Given the description of an element on the screen output the (x, y) to click on. 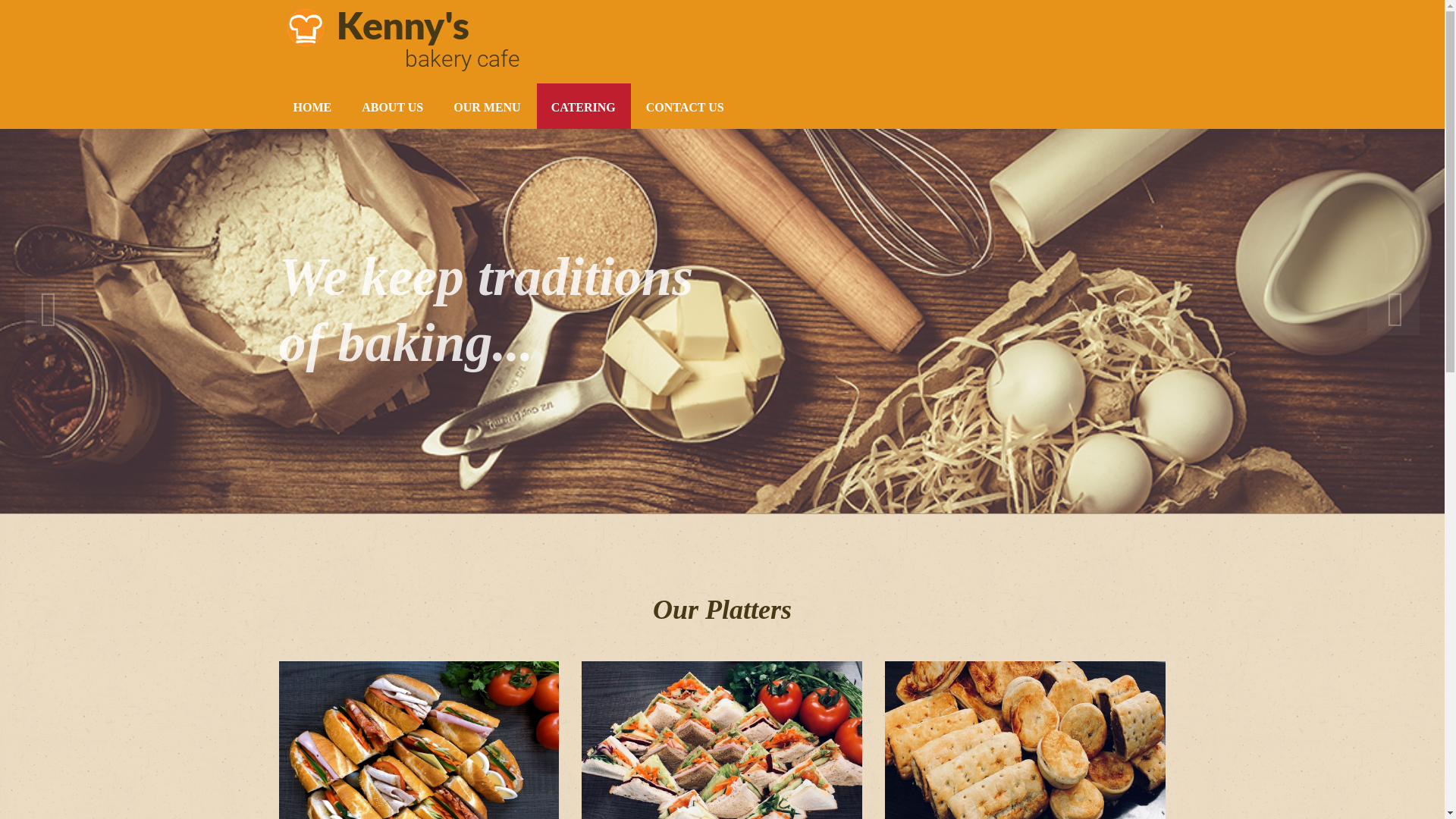
Kenny's Element type: text (402, 24)
HOME Element type: text (313, 105)
OUR MENU Element type: text (487, 105)
CATERING Element type: text (583, 105)
CONTACT US Element type: text (685, 105)
ABOUT US Element type: text (392, 105)
